Given the description of an element on the screen output the (x, y) to click on. 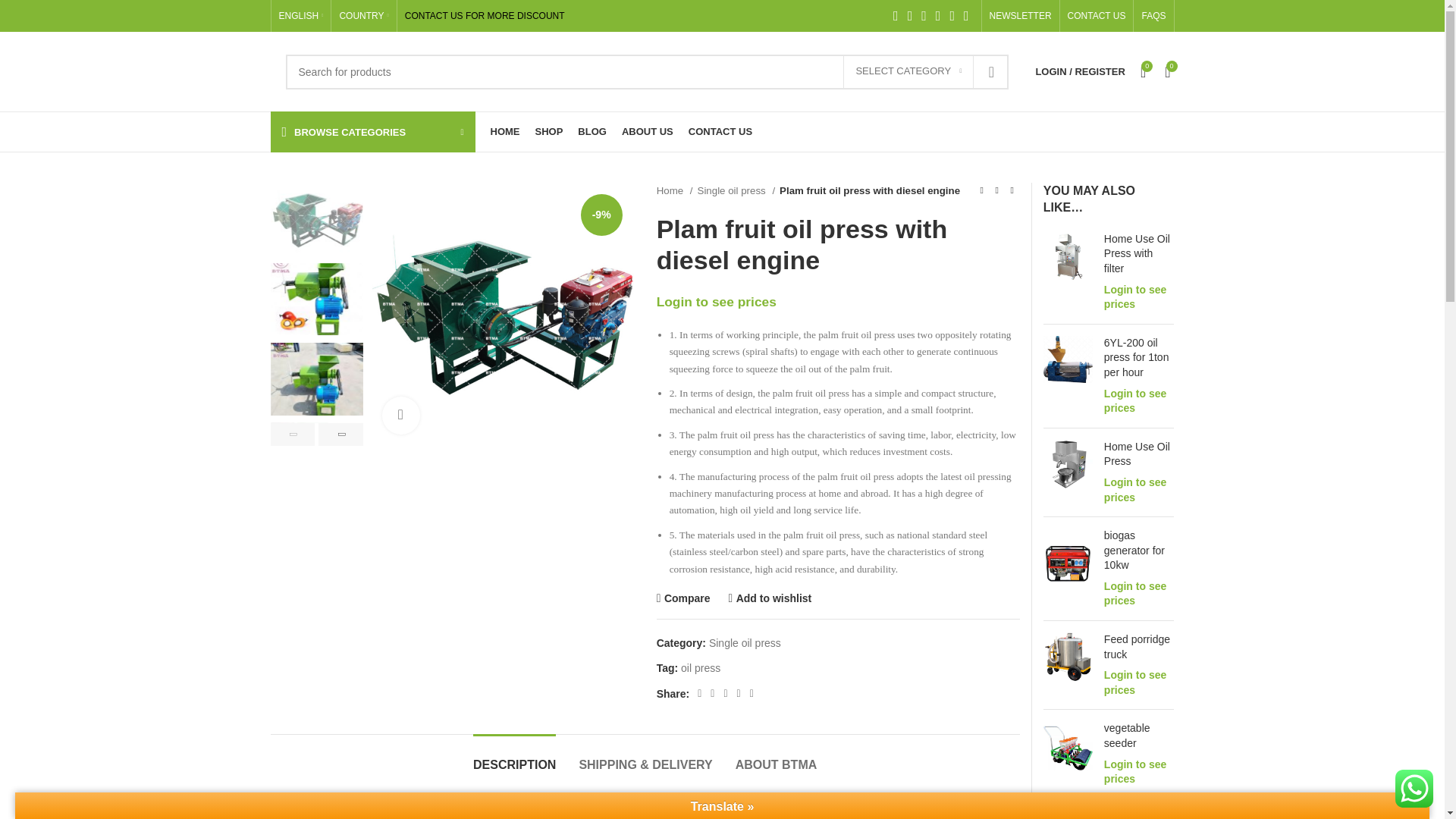
NEWSLETTER (1020, 15)
SELECT CATEGORY (908, 71)
My account (1079, 71)
Detail-07 (1043, 295)
Main-02 (773, 313)
Home Use Oil Press with filter (1138, 253)
COUNTRY (363, 15)
CONTACT US (1096, 15)
Search for products (647, 71)
SELECT CATEGORY (908, 71)
ENGLISH (301, 15)
Home Use Oil Press (1138, 454)
SEARCH (991, 71)
6YL-200 oil press for 1ton per hour (1138, 357)
